Given the description of an element on the screen output the (x, y) to click on. 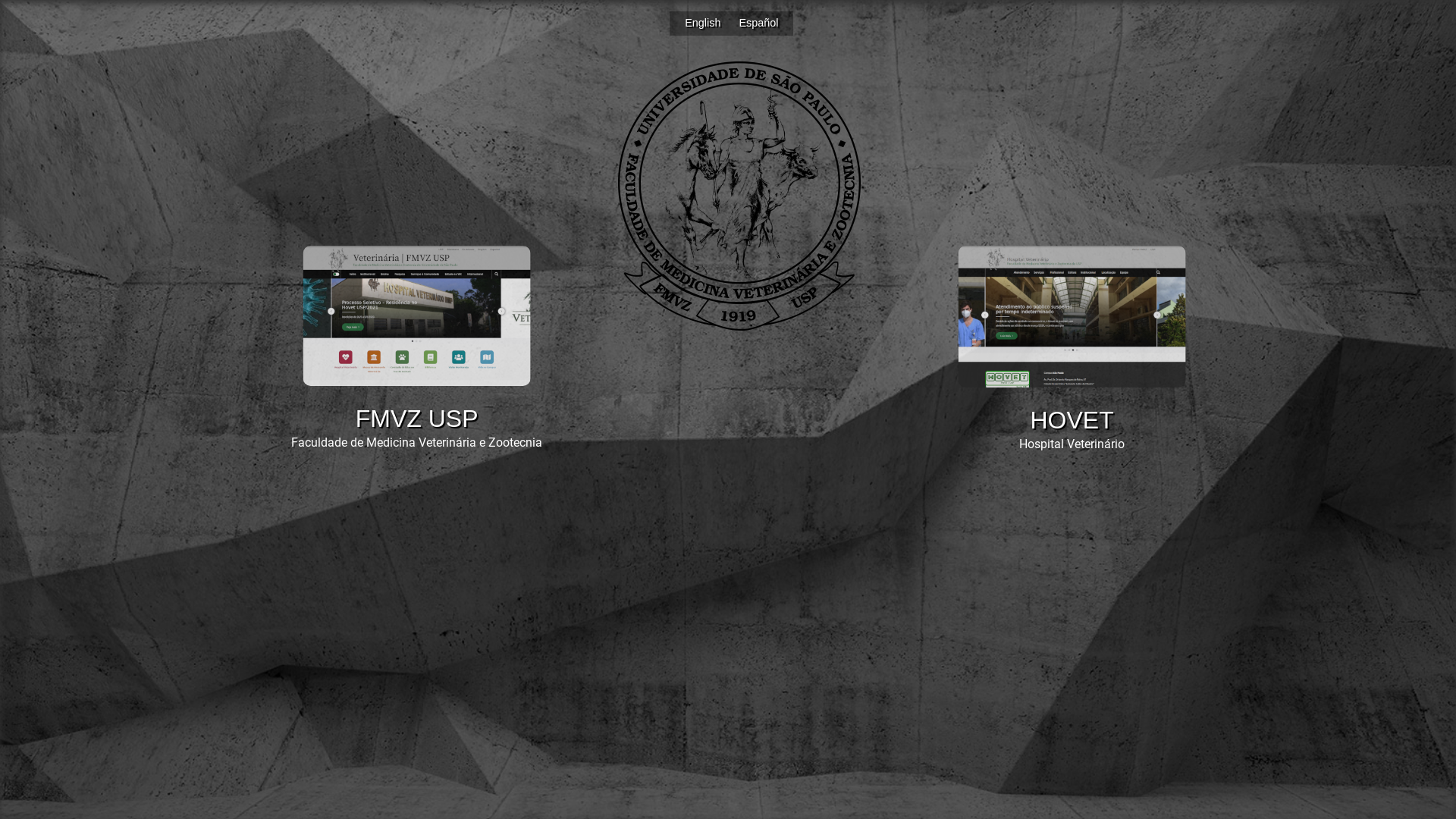
English Element type: text (703, 22)
